Given the description of an element on the screen output the (x, y) to click on. 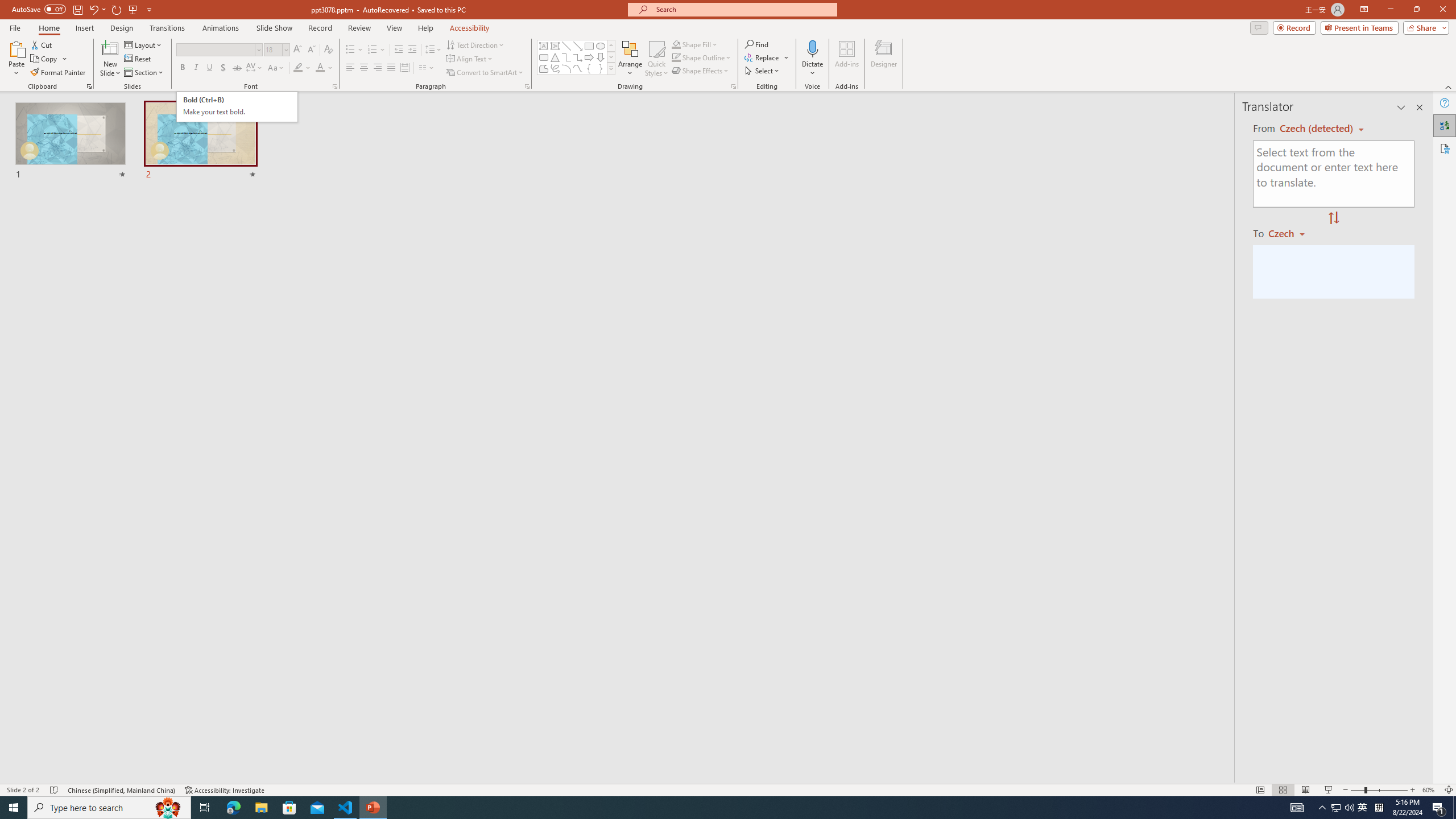
Select (762, 69)
Font Color Red (320, 67)
Convert to SmartArt (485, 72)
Left Brace (589, 68)
Bold (182, 67)
